Given the description of an element on the screen output the (x, y) to click on. 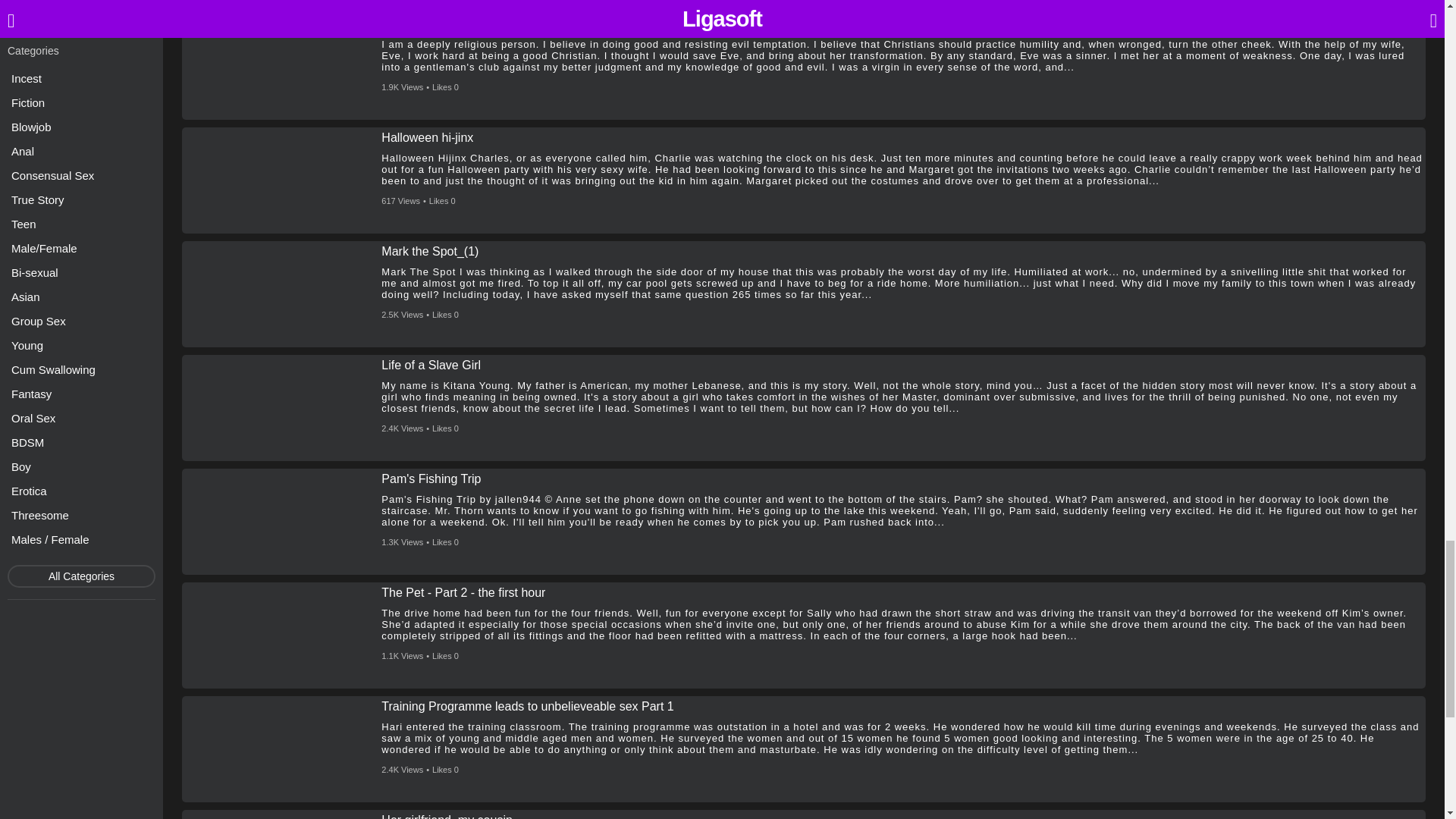
Turning the Other Cheek (448, 24)
Life of a Slave Girl (430, 365)
Halloween hi-jinx (427, 137)
Pam's Fishing Trip (430, 479)
The Pet - Part 2 - the first hour (462, 592)
